Given the description of an element on the screen output the (x, y) to click on. 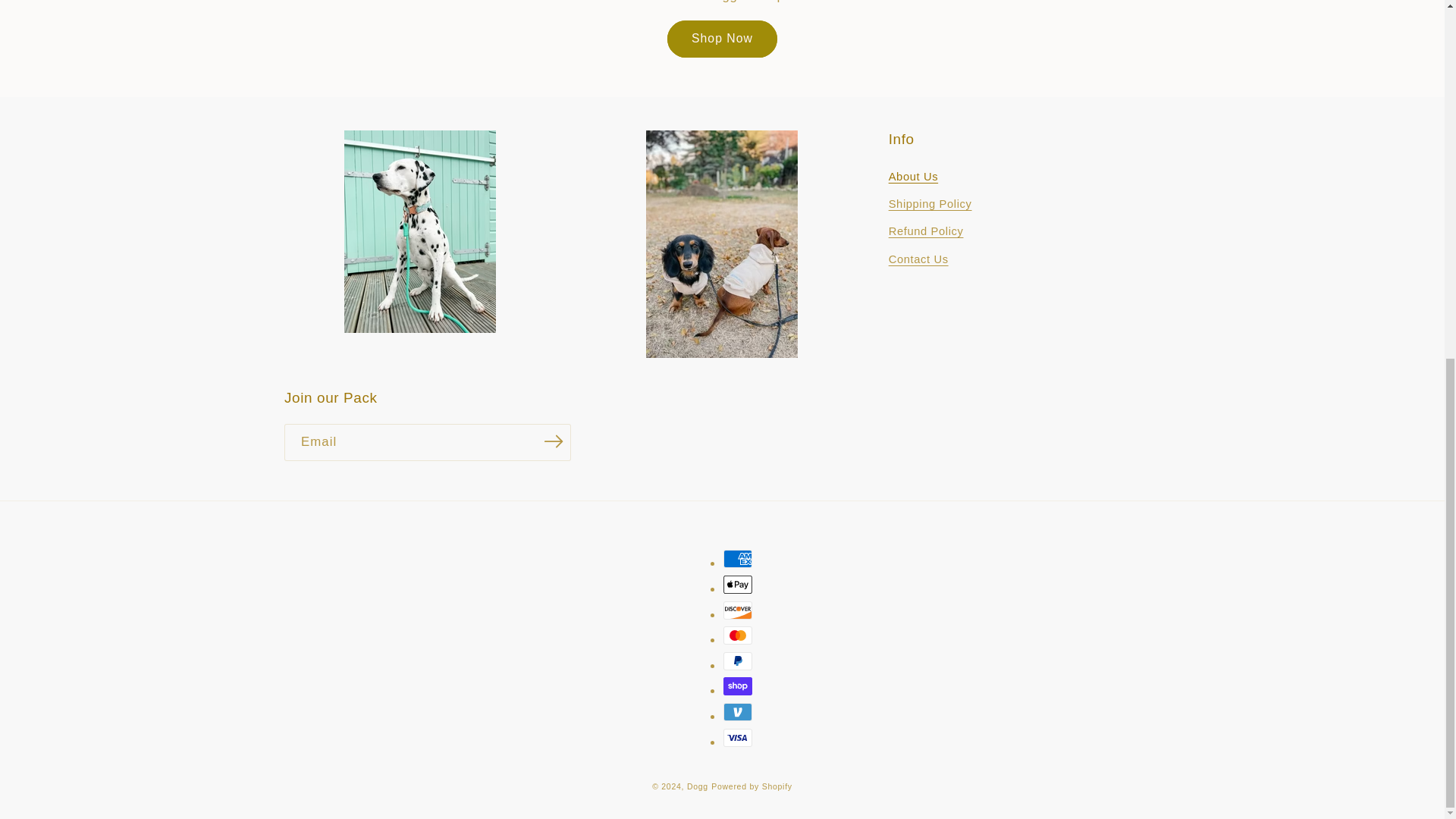
PayPal (737, 660)
Visa (737, 737)
Discover (737, 610)
American Express (737, 558)
Apple Pay (737, 584)
Shop Pay (737, 686)
Venmo (737, 711)
Mastercard (737, 635)
